Given the description of an element on the screen output the (x, y) to click on. 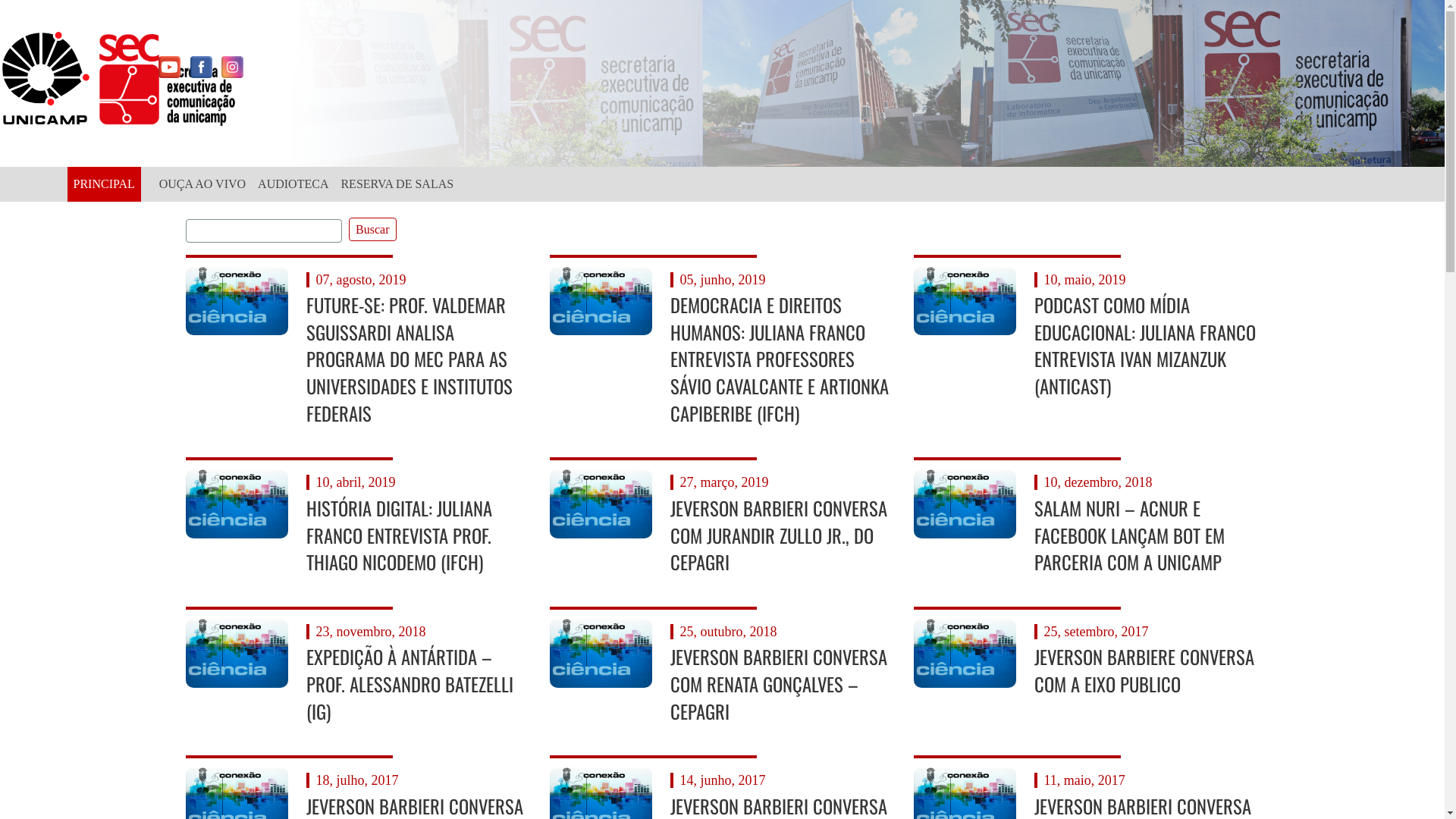
Buscar Element type: text (371, 229)
PRINCIPAL Element type: text (103, 183)
RESERVA DE SALAS Element type: text (396, 183)
AUDIOTECA Element type: text (292, 183)
